Given the description of an element on the screen output the (x, y) to click on. 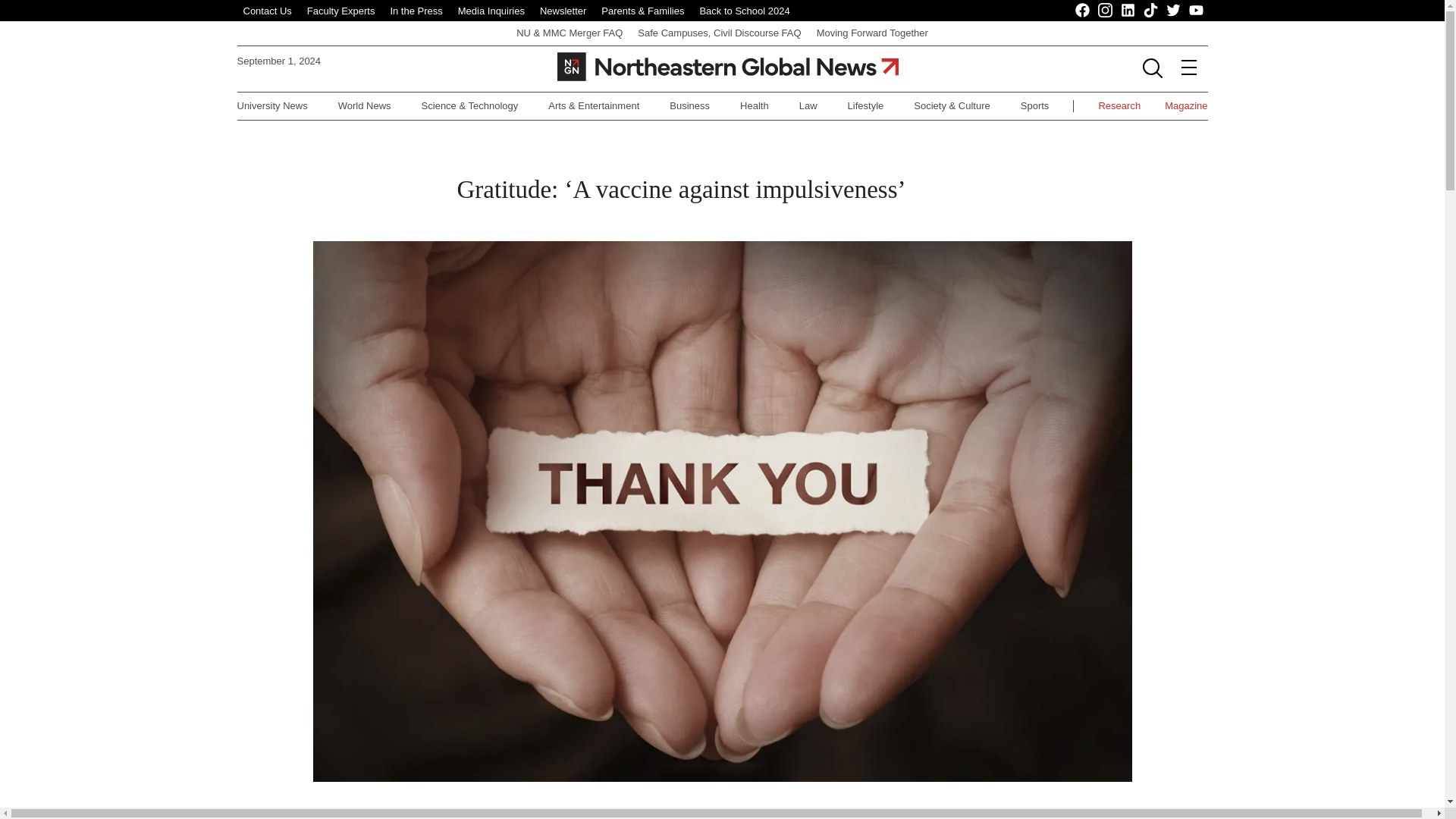
Faculty Experts (341, 10)
Back to School 2024 (743, 10)
Newsletter (563, 10)
Youtube (1196, 10)
LinkedIn (1128, 10)
Facebook (1082, 10)
Instagram (1105, 10)
Twitter (1173, 10)
Moving Forward Together (872, 32)
In the Press (416, 10)
